Given the description of an element on the screen output the (x, y) to click on. 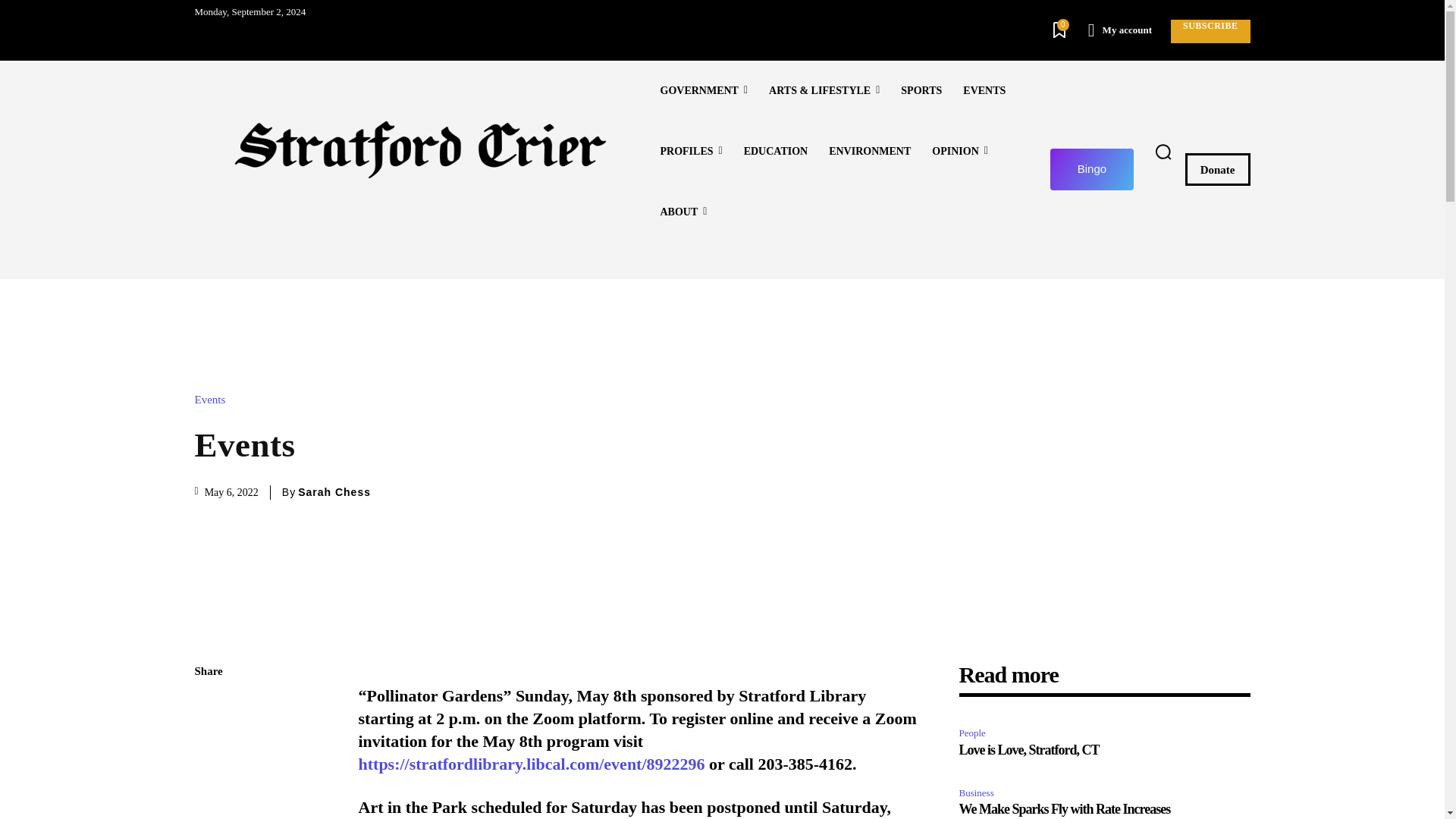
Donate (1217, 169)
Bingo (1091, 169)
Subscribe (1210, 31)
